Given the description of an element on the screen output the (x, y) to click on. 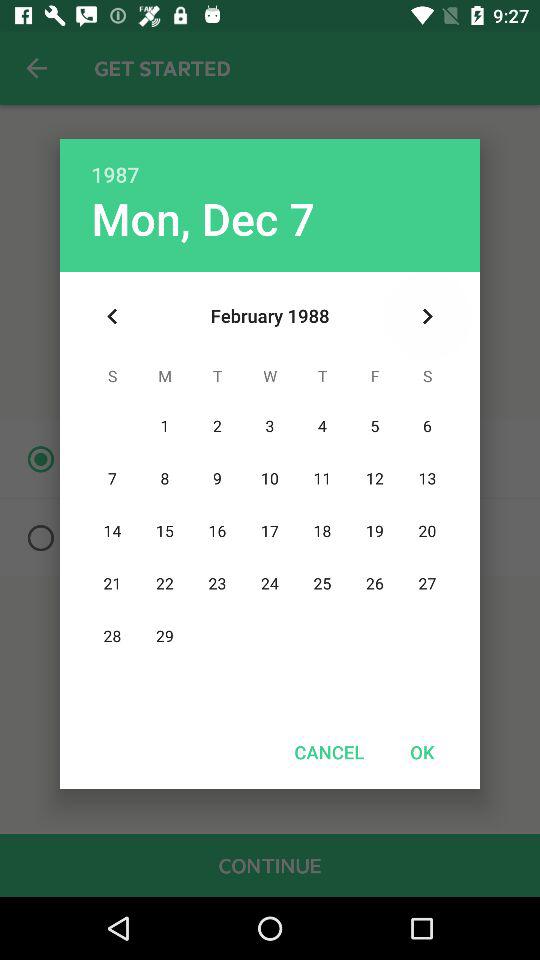
launch ok item (422, 751)
